Given the description of an element on the screen output the (x, y) to click on. 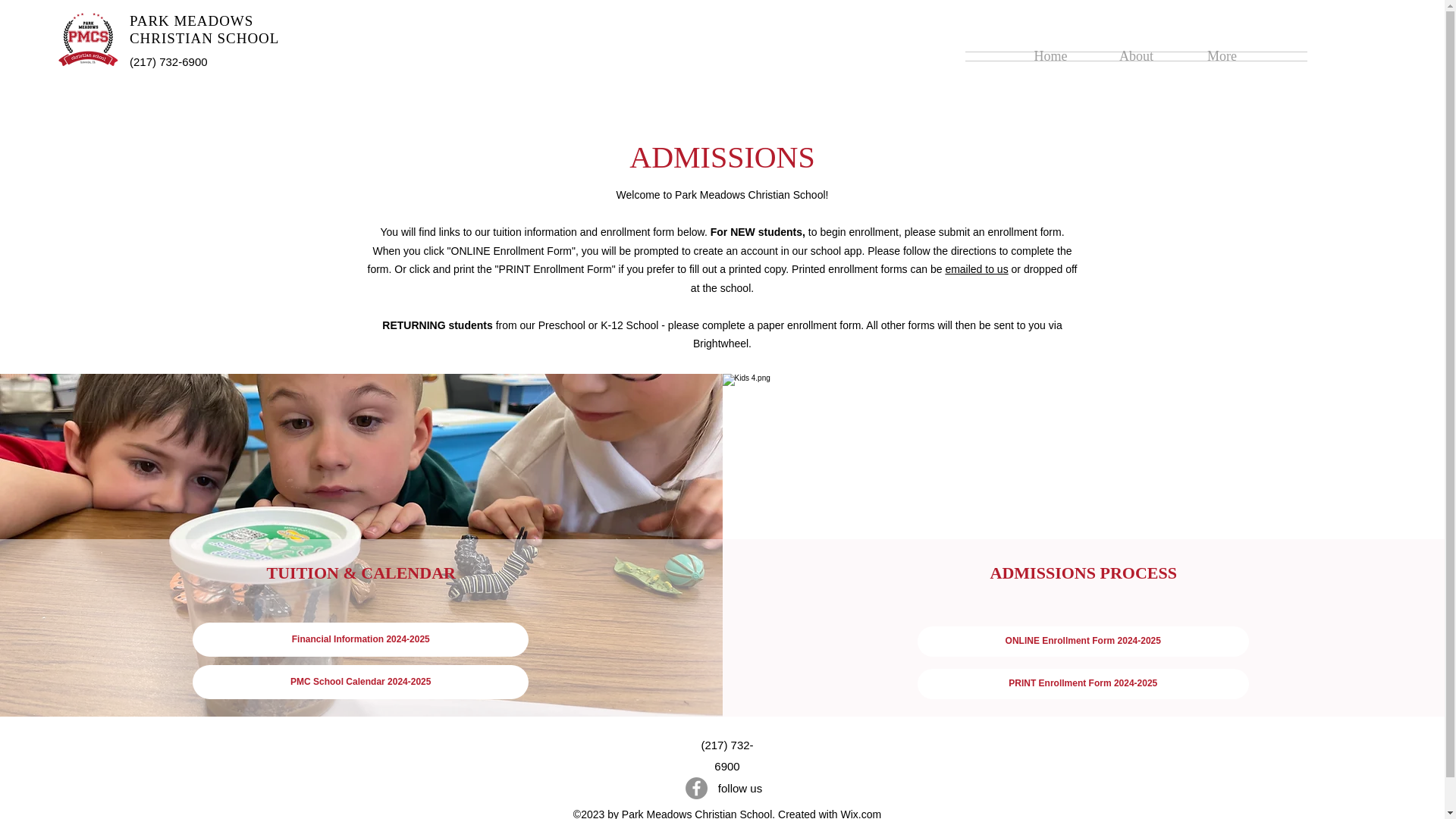
CHRISTIAN SCHOOL (204, 37)
Home (1050, 56)
PMC School Calendar 2024-2025 (360, 682)
PARK MEADOWS (191, 20)
Financial Information 2024-2025 (360, 639)
About (1136, 56)
PRINT Enrollment Form 2024-2025 (1083, 684)
ONLINE Enrollment Form 2024-2025 (1083, 641)
emailed to us (975, 268)
